Given the description of an element on the screen output the (x, y) to click on. 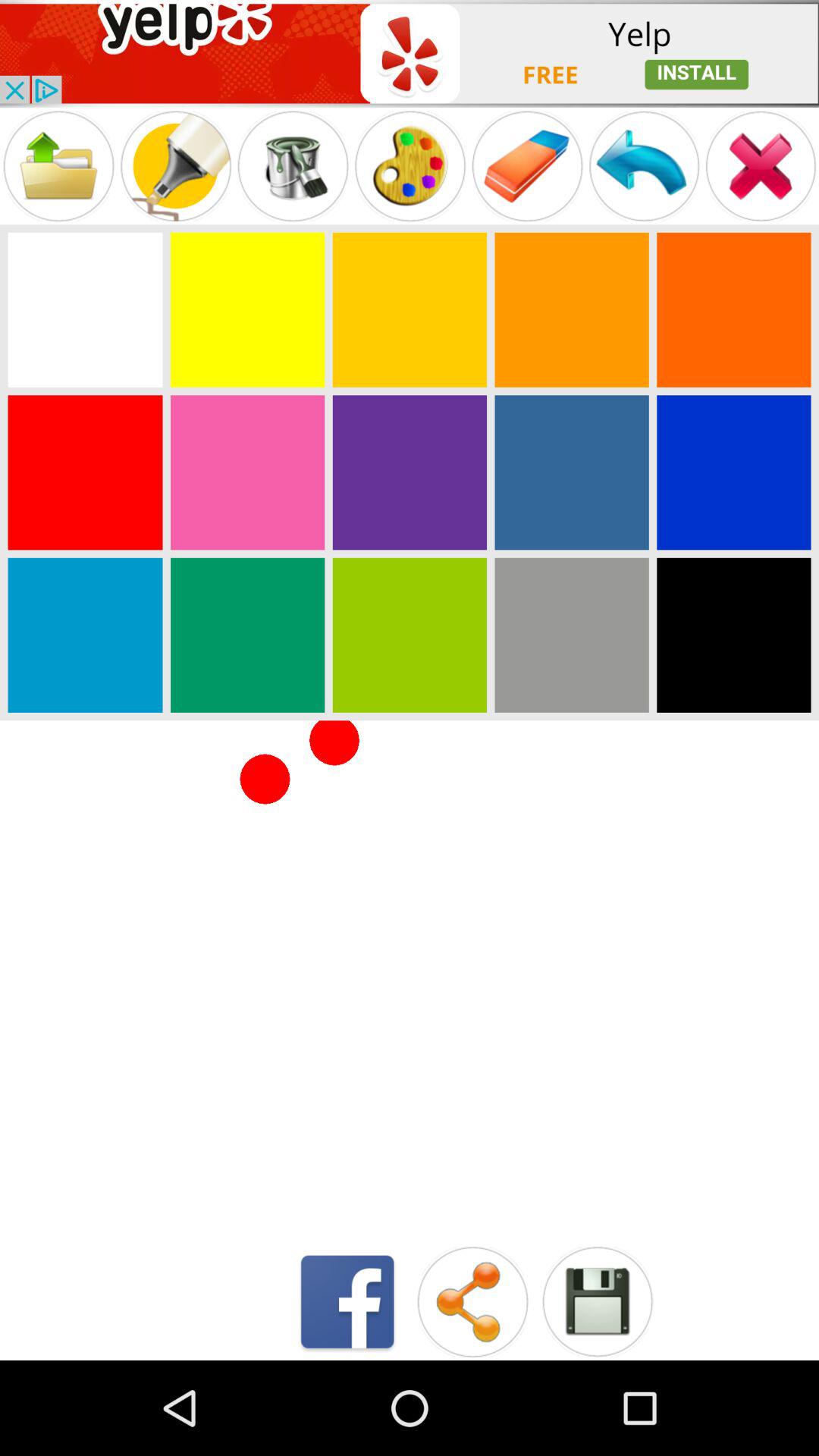
share button (472, 1301)
